Given the description of an element on the screen output the (x, y) to click on. 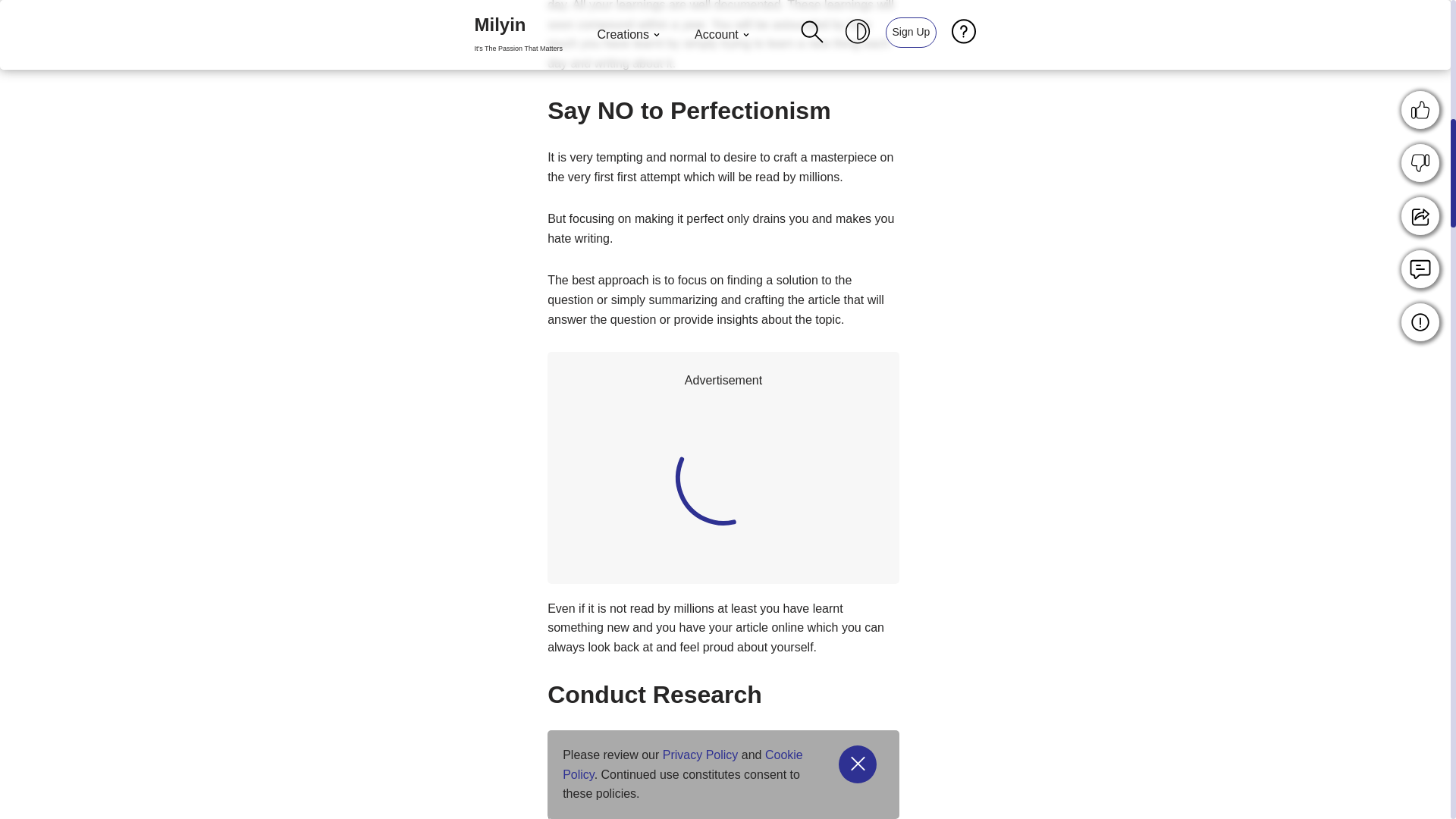
Advertisement (828, 489)
